Given the description of an element on the screen output the (x, y) to click on. 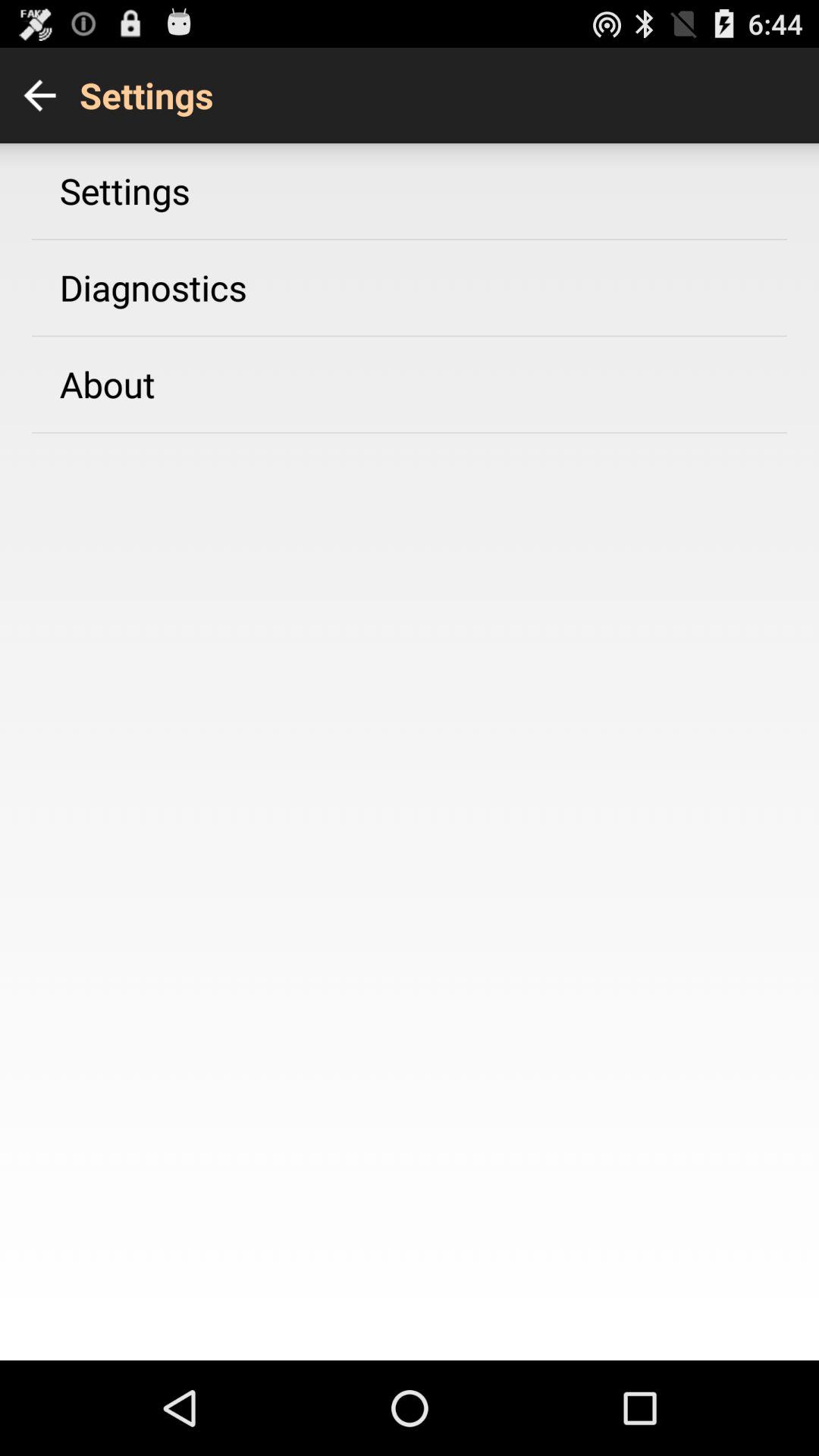
click the app above the about (152, 287)
